Given the description of an element on the screen output the (x, y) to click on. 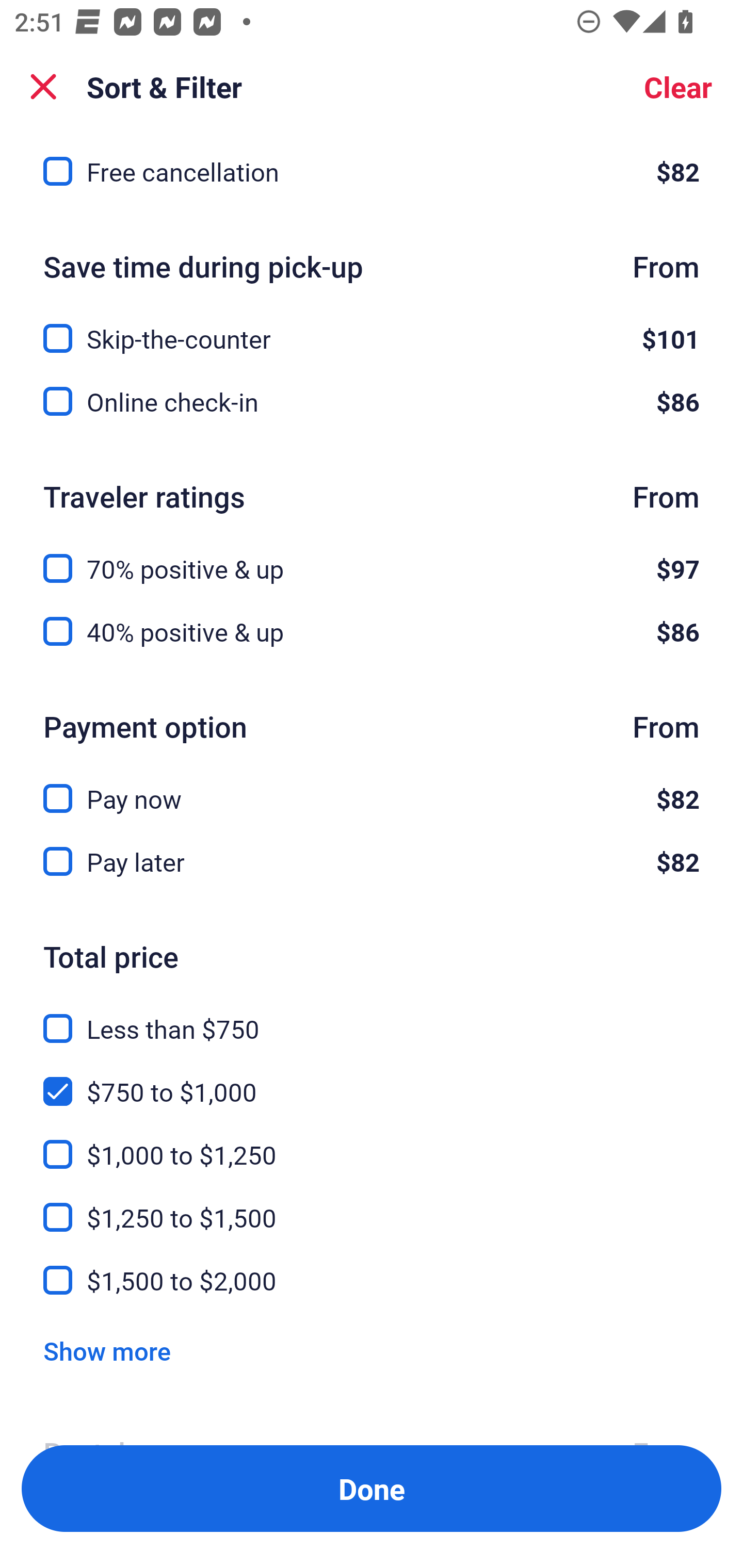
Close Sort and Filter (43, 86)
Clear (677, 86)
Free cancellation, $82 Free cancellation $82 (371, 172)
Skip-the-counter, $101 Skip-the-counter $101 (371, 326)
Online check-in, $86 Online check-in $86 (371, 402)
70% positive & up, $97 70% positive & up $97 (371, 556)
40% positive & up, $86 40% positive & up $86 (371, 631)
Pay now, $82 Pay now $82 (371, 786)
Pay later, $82 Pay later $82 (371, 861)
Less than $750, Less than $750 (371, 1017)
$750 to $1,000, $750 to $1,000 (371, 1079)
$1,000 to $1,250, $1,000 to $1,250 (371, 1142)
$1,250 to $1,500, $1,250 to $1,500 (371, 1205)
$1,500 to $2,000, $1,500 to $2,000 (371, 1280)
Show more Show more Link (106, 1350)
Apply and close Sort and Filter Done (371, 1488)
